Given the description of an element on the screen output the (x, y) to click on. 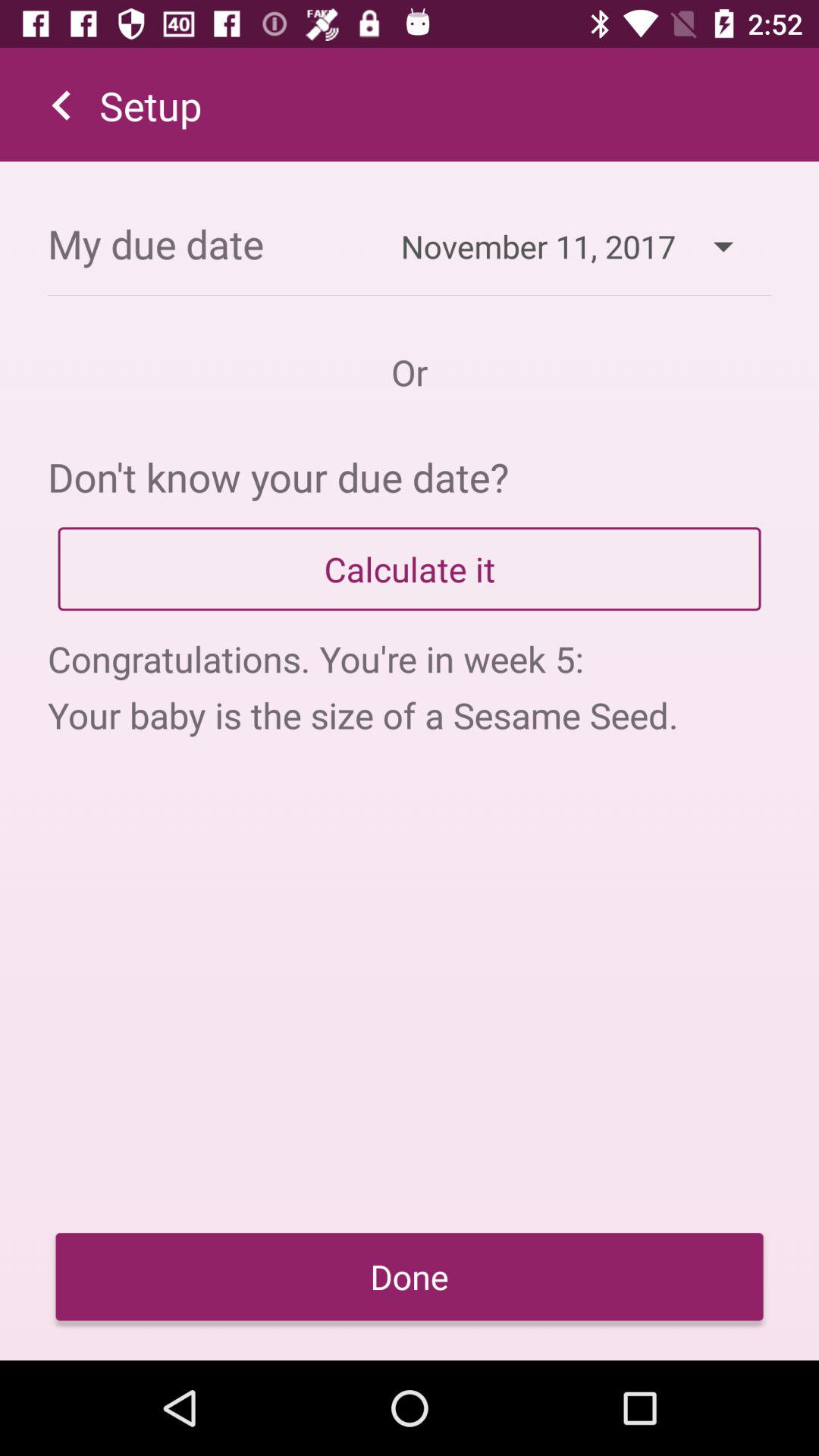
tap app above congratulations you re (409, 568)
